Given the description of an element on the screen output the (x, y) to click on. 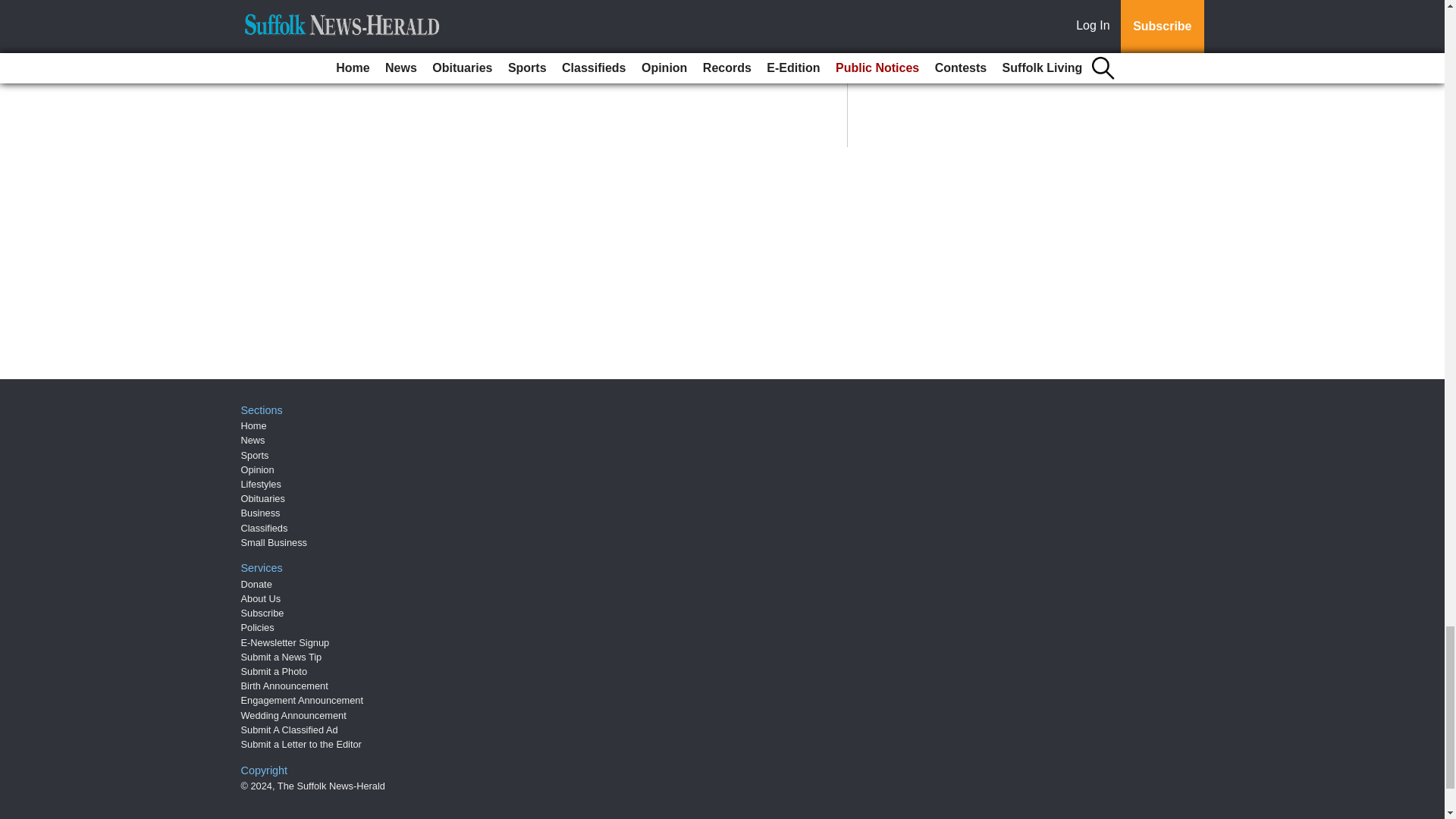
Sports (255, 455)
News (252, 439)
Lifestyles (261, 483)
Home (253, 425)
Opinion (258, 469)
Business (261, 512)
Obituaries (263, 498)
